Given the description of an element on the screen output the (x, y) to click on. 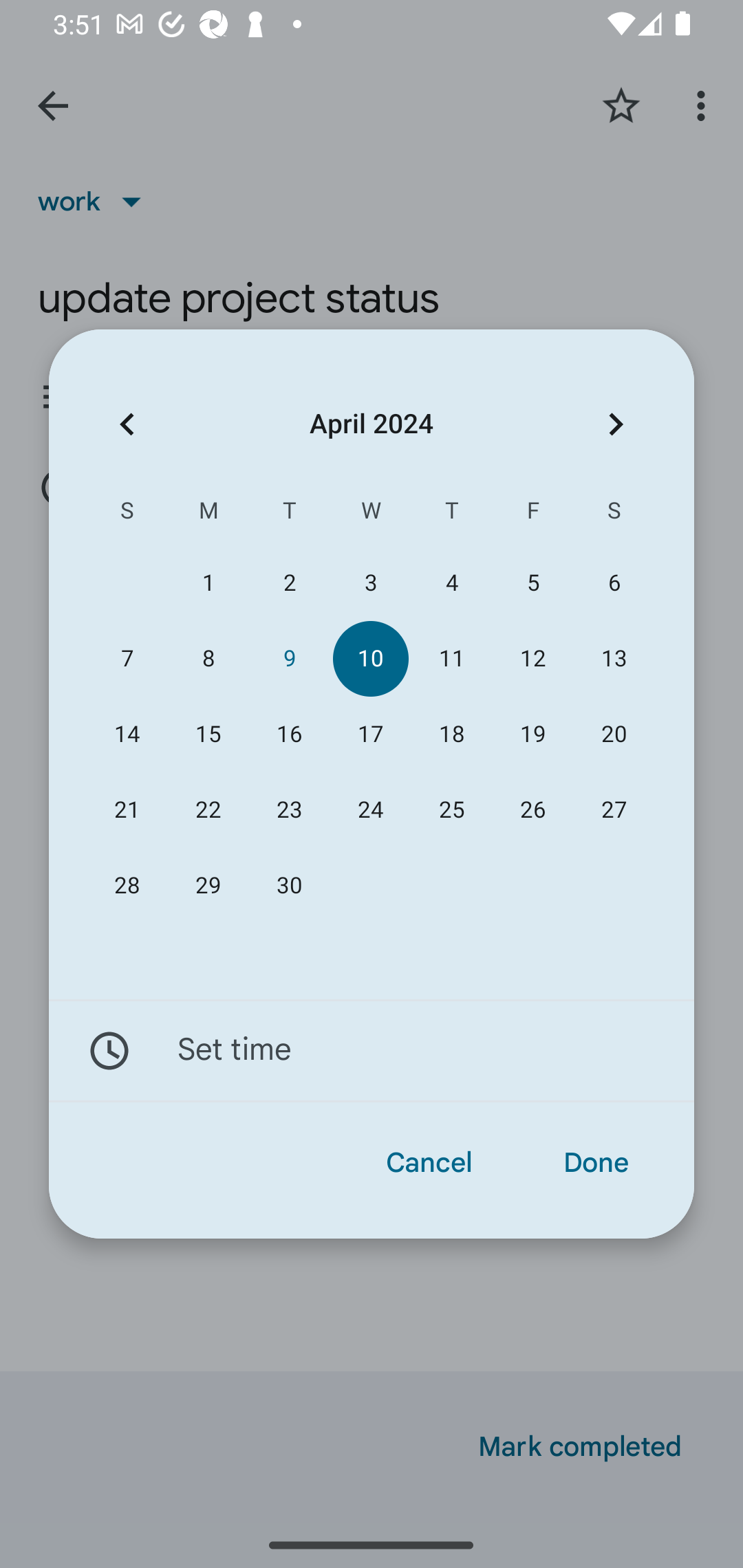
Previous month (126, 424)
Next month (615, 424)
1 01 April 2024 (207, 582)
2 02 April 2024 (288, 582)
3 03 April 2024 (370, 582)
4 04 April 2024 (451, 582)
5 05 April 2024 (532, 582)
6 06 April 2024 (613, 582)
7 07 April 2024 (126, 658)
8 08 April 2024 (207, 658)
9 09 April 2024 (288, 658)
10 10 April 2024 (370, 658)
11 11 April 2024 (451, 658)
12 12 April 2024 (532, 658)
13 13 April 2024 (613, 658)
14 14 April 2024 (126, 734)
15 15 April 2024 (207, 734)
16 16 April 2024 (288, 734)
17 17 April 2024 (370, 734)
18 18 April 2024 (451, 734)
19 19 April 2024 (532, 734)
20 20 April 2024 (613, 734)
21 21 April 2024 (126, 810)
22 22 April 2024 (207, 810)
23 23 April 2024 (288, 810)
24 24 April 2024 (370, 810)
25 25 April 2024 (451, 810)
26 26 April 2024 (532, 810)
27 27 April 2024 (613, 810)
28 28 April 2024 (126, 885)
29 29 April 2024 (207, 885)
30 30 April 2024 (288, 885)
Set time (371, 1050)
Cancel (429, 1162)
Done (595, 1162)
